Given the description of an element on the screen output the (x, y) to click on. 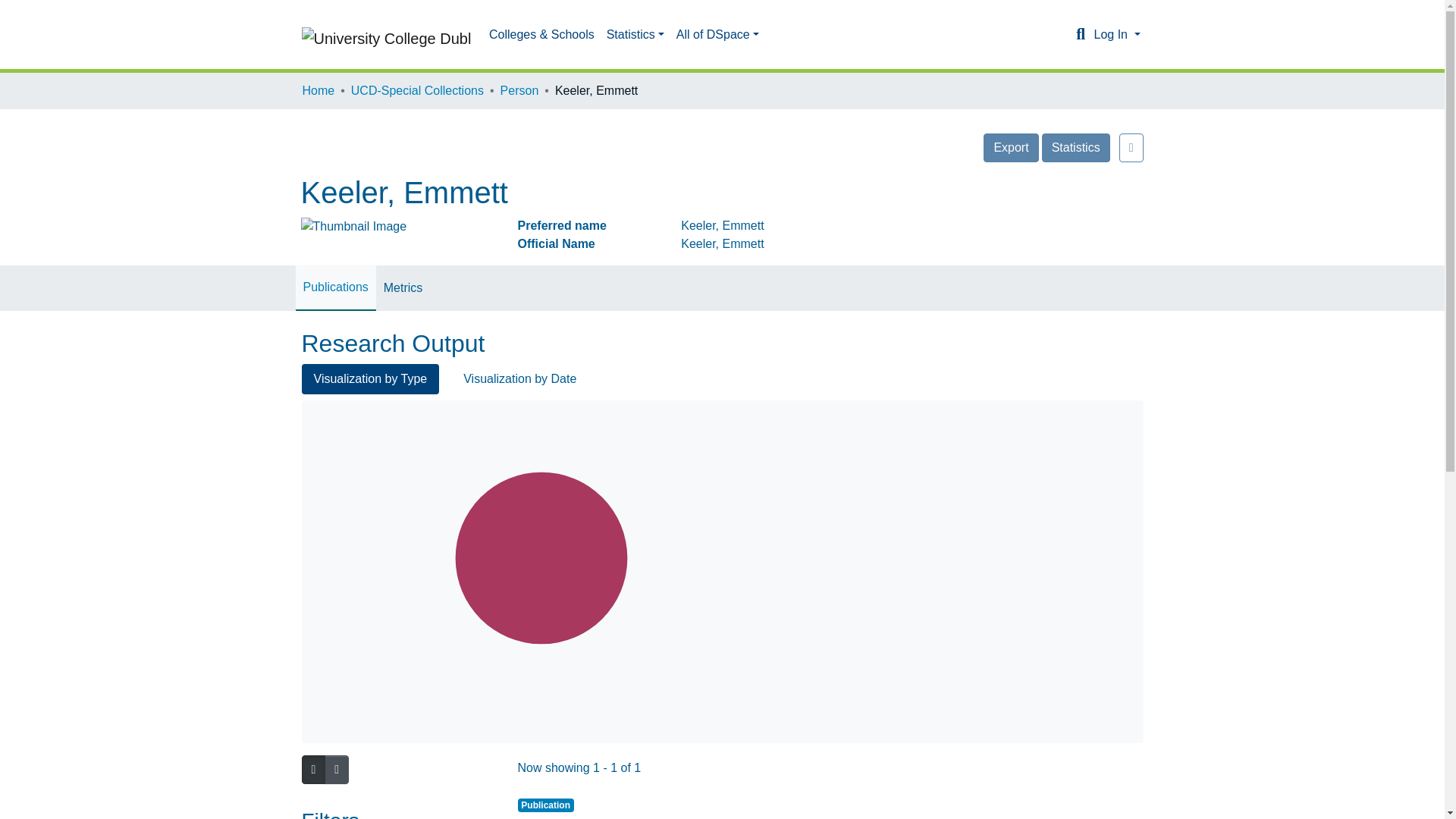
Publications (335, 287)
Visualization by Type (370, 378)
Person (519, 90)
Visualization by Date (519, 378)
Home (317, 90)
UCD-Special Collections (416, 90)
Export (1011, 147)
Search (1080, 34)
Statistics (634, 34)
Log In (1116, 33)
